Given the description of an element on the screen output the (x, y) to click on. 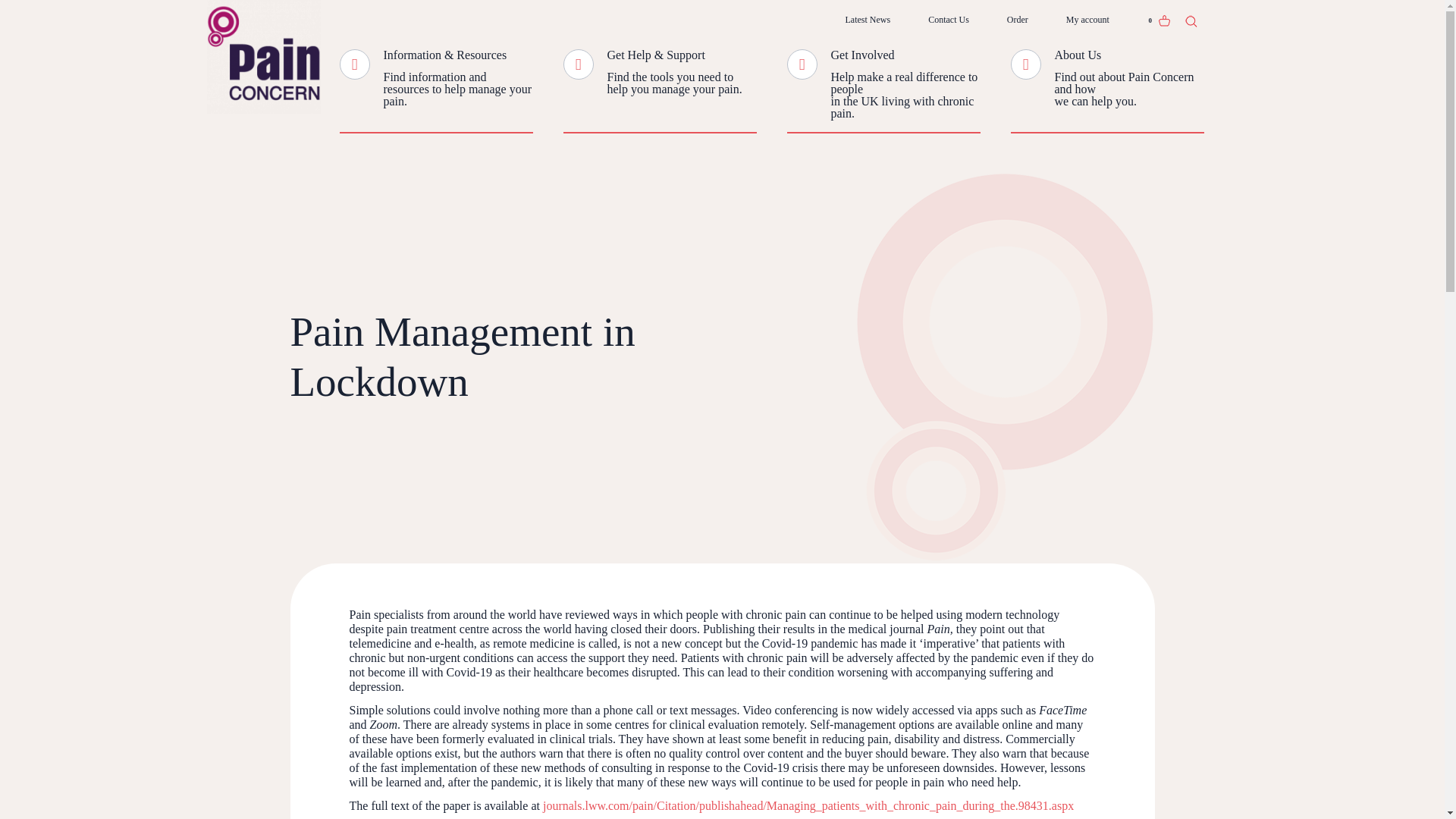
My account (1087, 19)
About Us (1077, 54)
Order (1017, 19)
Get Involved (863, 54)
Latest News (868, 19)
Contact Us (948, 19)
0 (1158, 19)
